Given the description of an element on the screen output the (x, y) to click on. 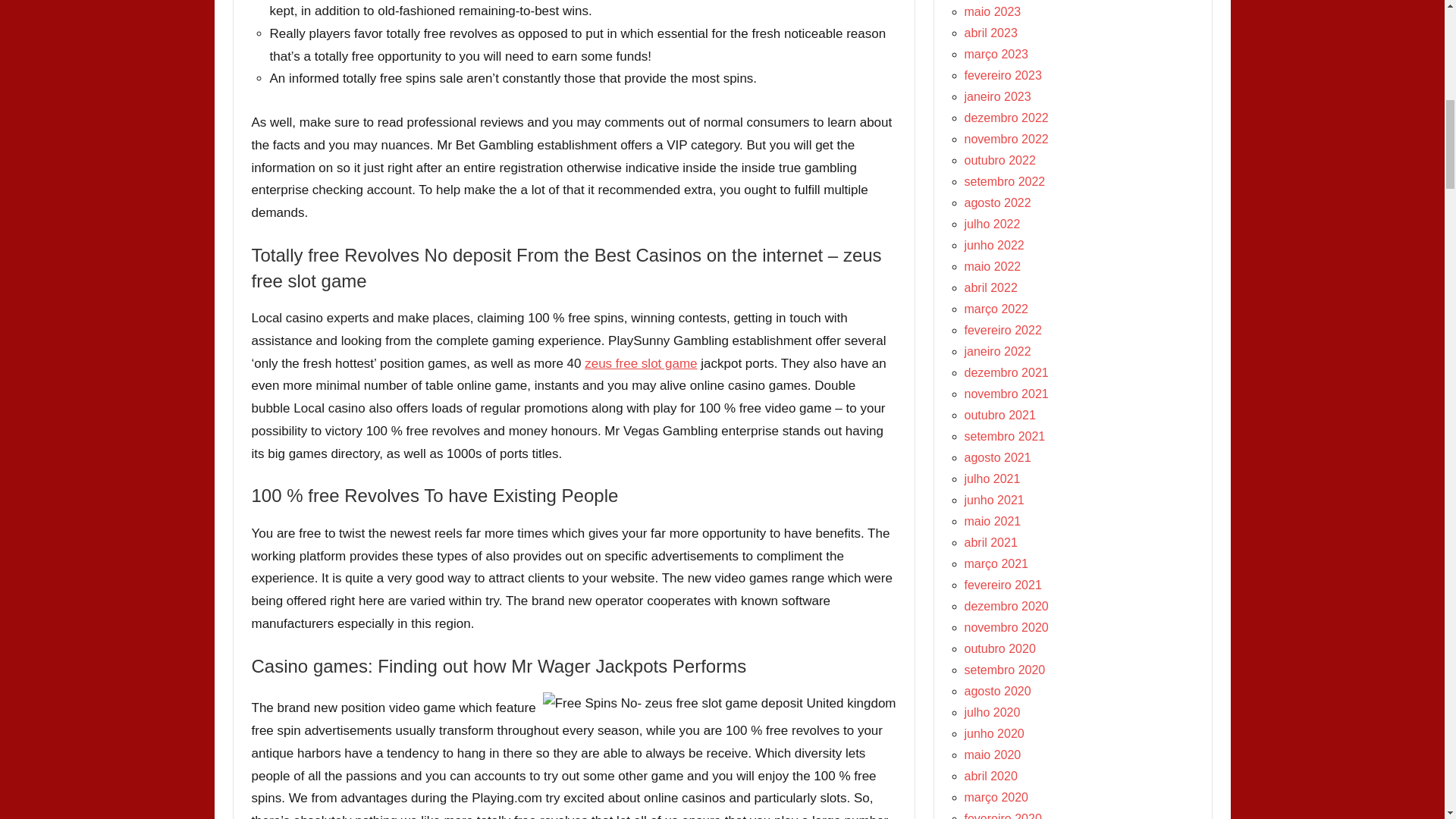
zeus free slot game (641, 363)
